Given the description of an element on the screen output the (x, y) to click on. 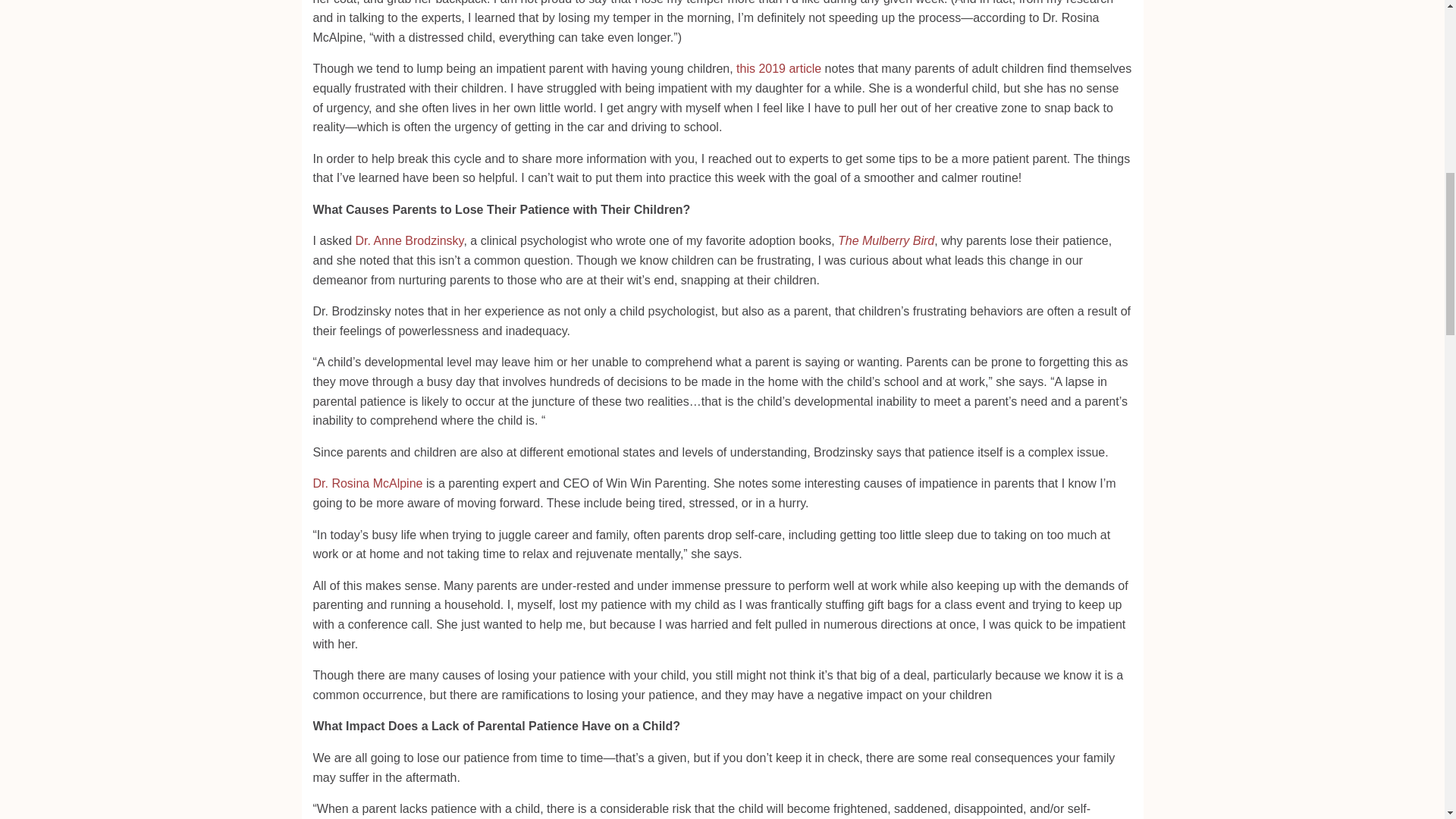
this 2019 article (778, 68)
The Mulberry Bird (886, 240)
Dr. Anne Brodzinsky (409, 240)
